Given the description of an element on the screen output the (x, y) to click on. 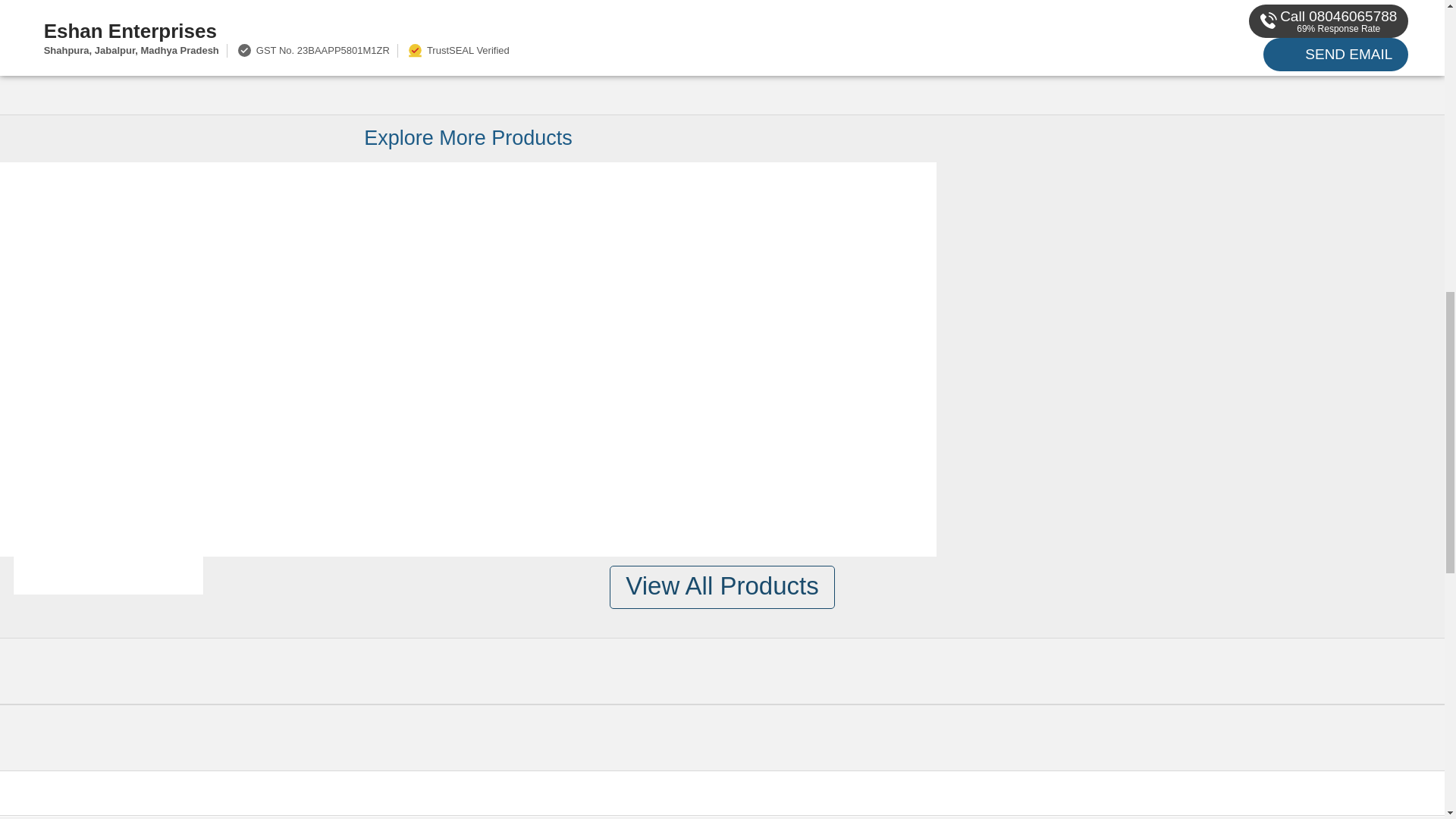
View All Products (722, 587)
3kg D Cut Non Woven Carry Bag (108, 335)
